Given the description of an element on the screen output the (x, y) to click on. 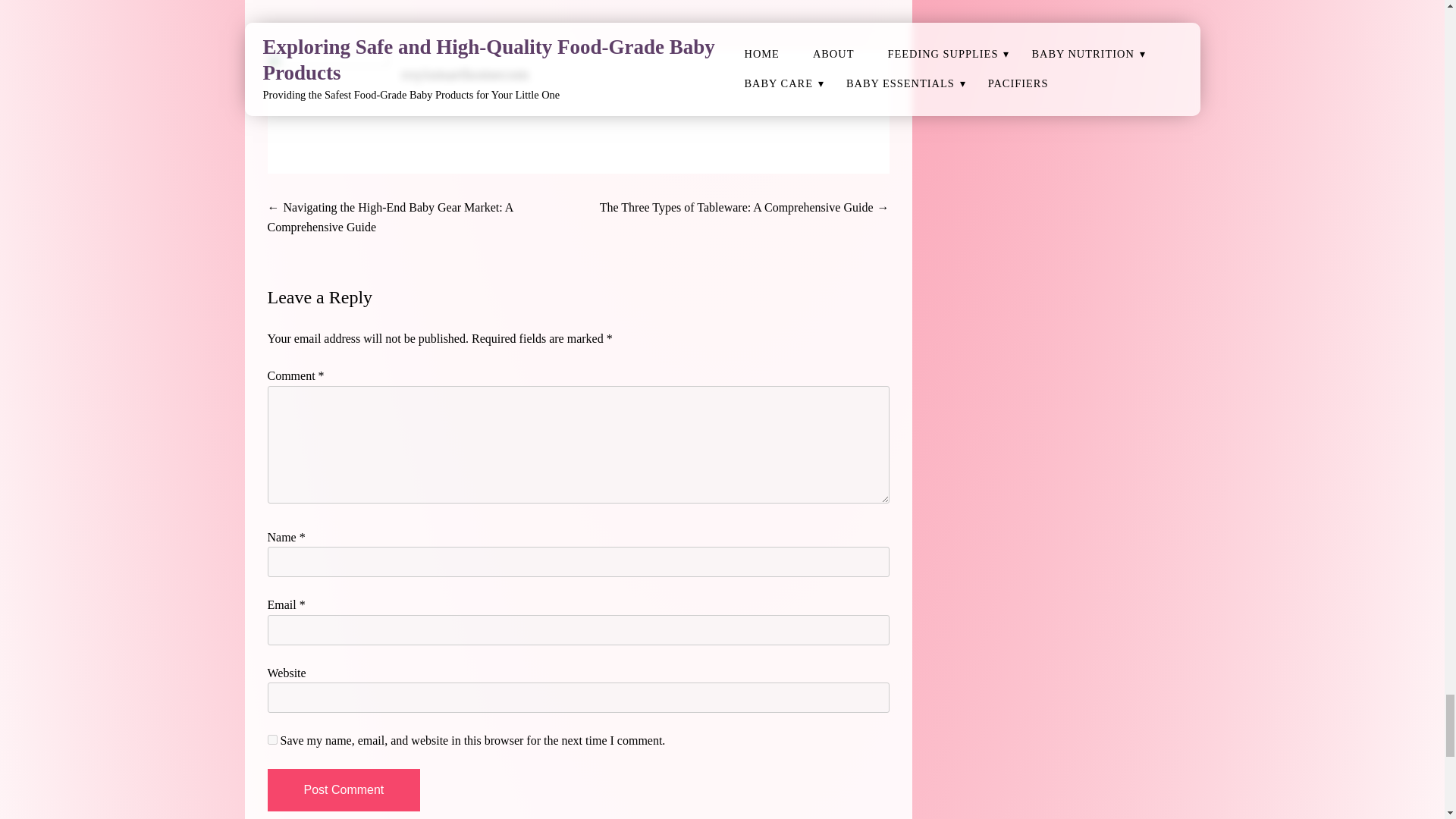
royismarthomecom (464, 74)
The Three Types of Tableware: A Comprehensive Guide (736, 206)
Post Comment (343, 790)
yes (271, 739)
Post Comment (343, 790)
